Given the description of an element on the screen output the (x, y) to click on. 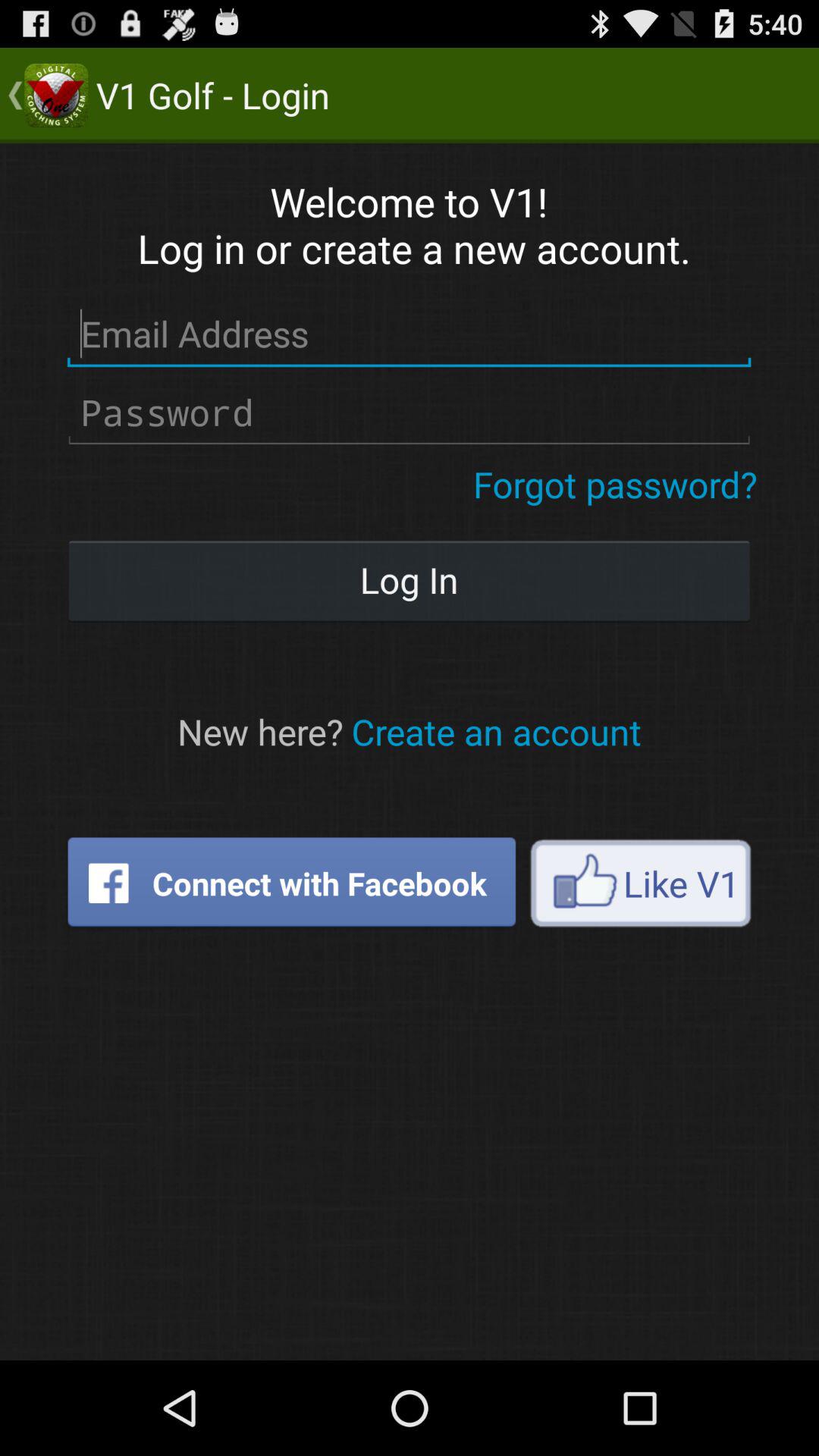
launch button above the log in icon (615, 484)
